Given the description of an element on the screen output the (x, y) to click on. 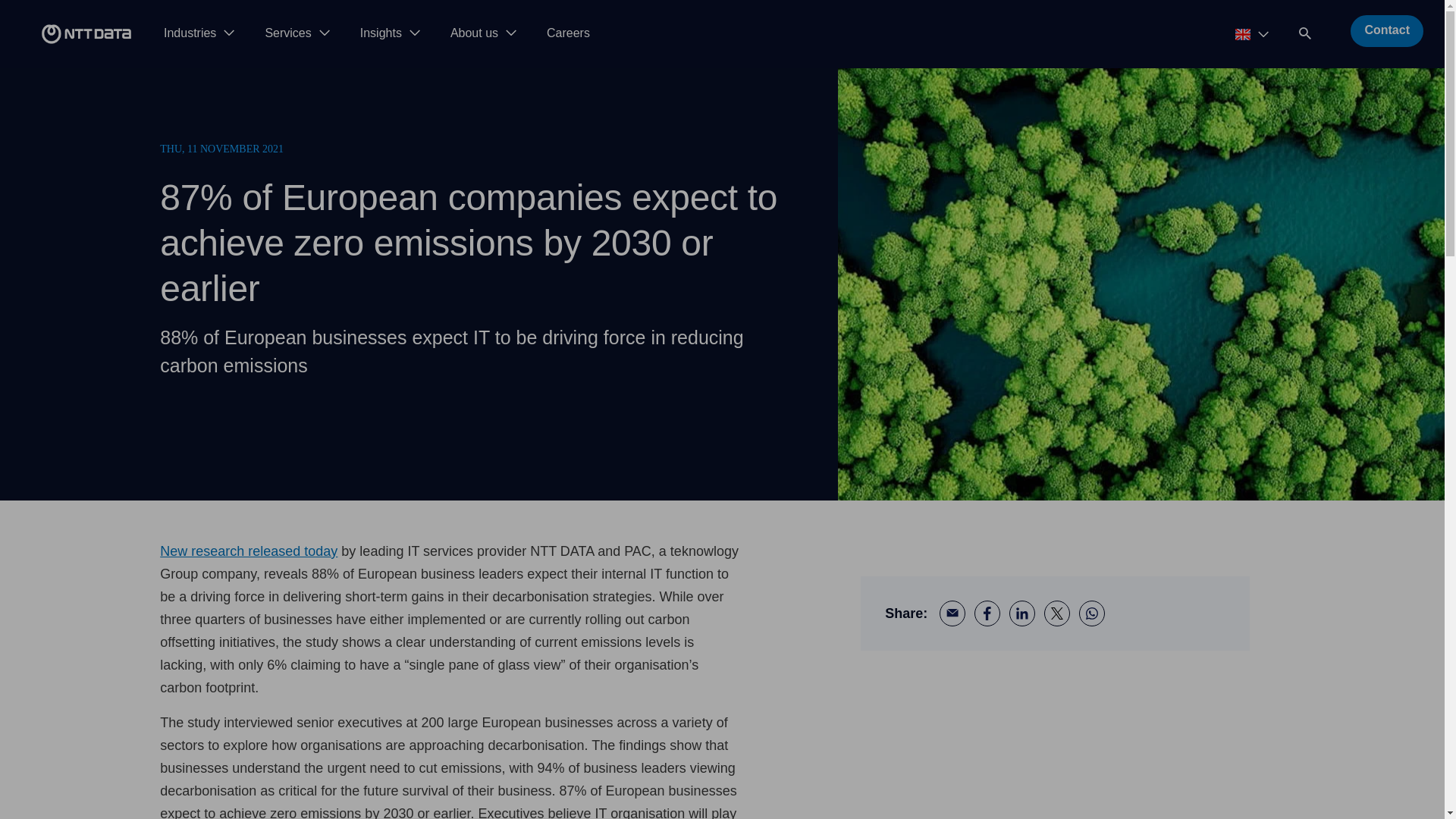
Industries (198, 32)
Services (296, 32)
Insights (389, 32)
